Given the description of an element on the screen output the (x, y) to click on. 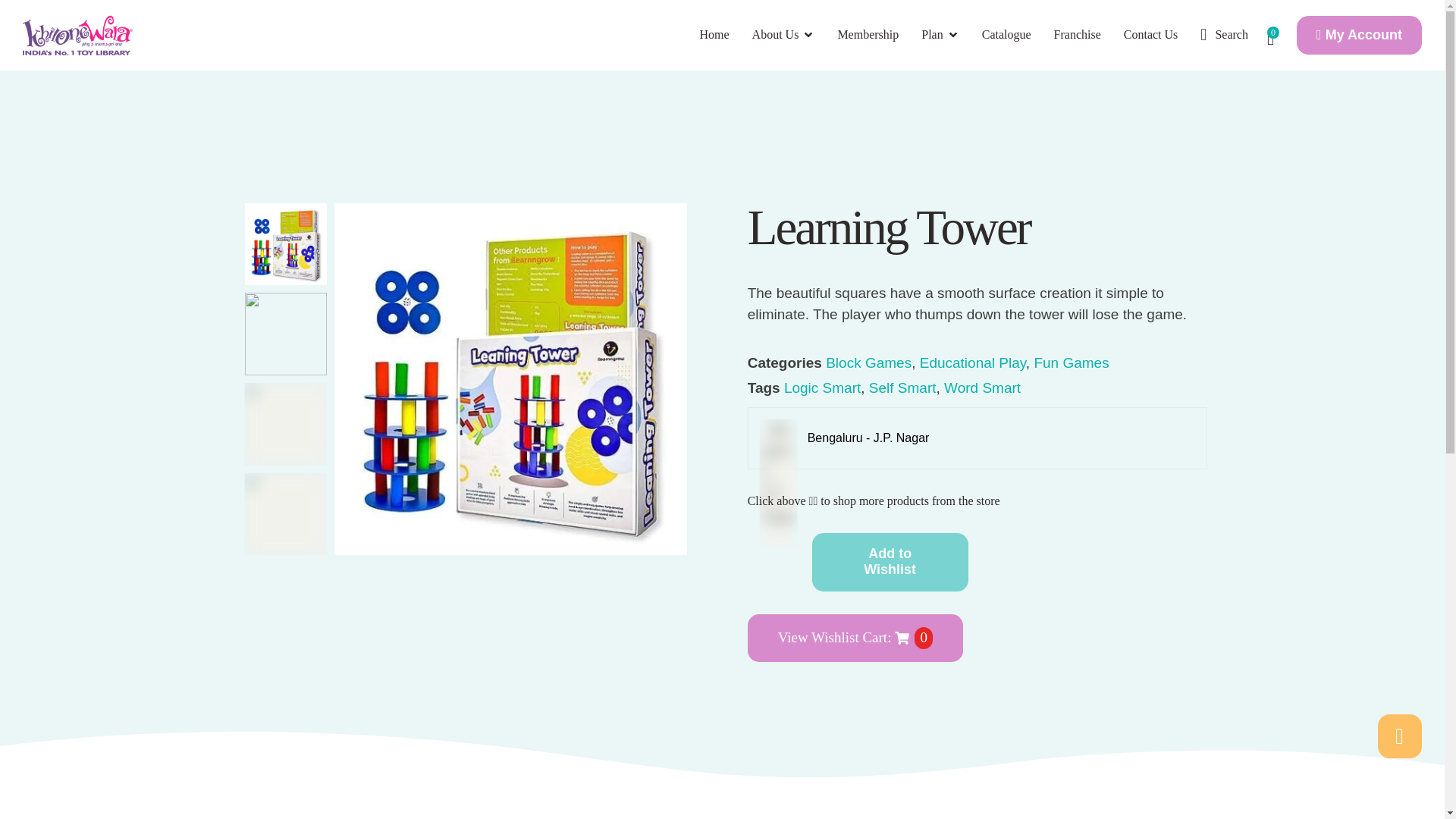
Learning tower (285, 244)
About Us (783, 35)
Catalogue (1005, 35)
Home (713, 35)
Learning tower 2 (285, 333)
Learning tower (510, 379)
Membership (867, 35)
Learning Tower 4 (285, 514)
Contact Us (1150, 35)
Khilonewala (77, 35)
